Given the description of an element on the screen output the (x, y) to click on. 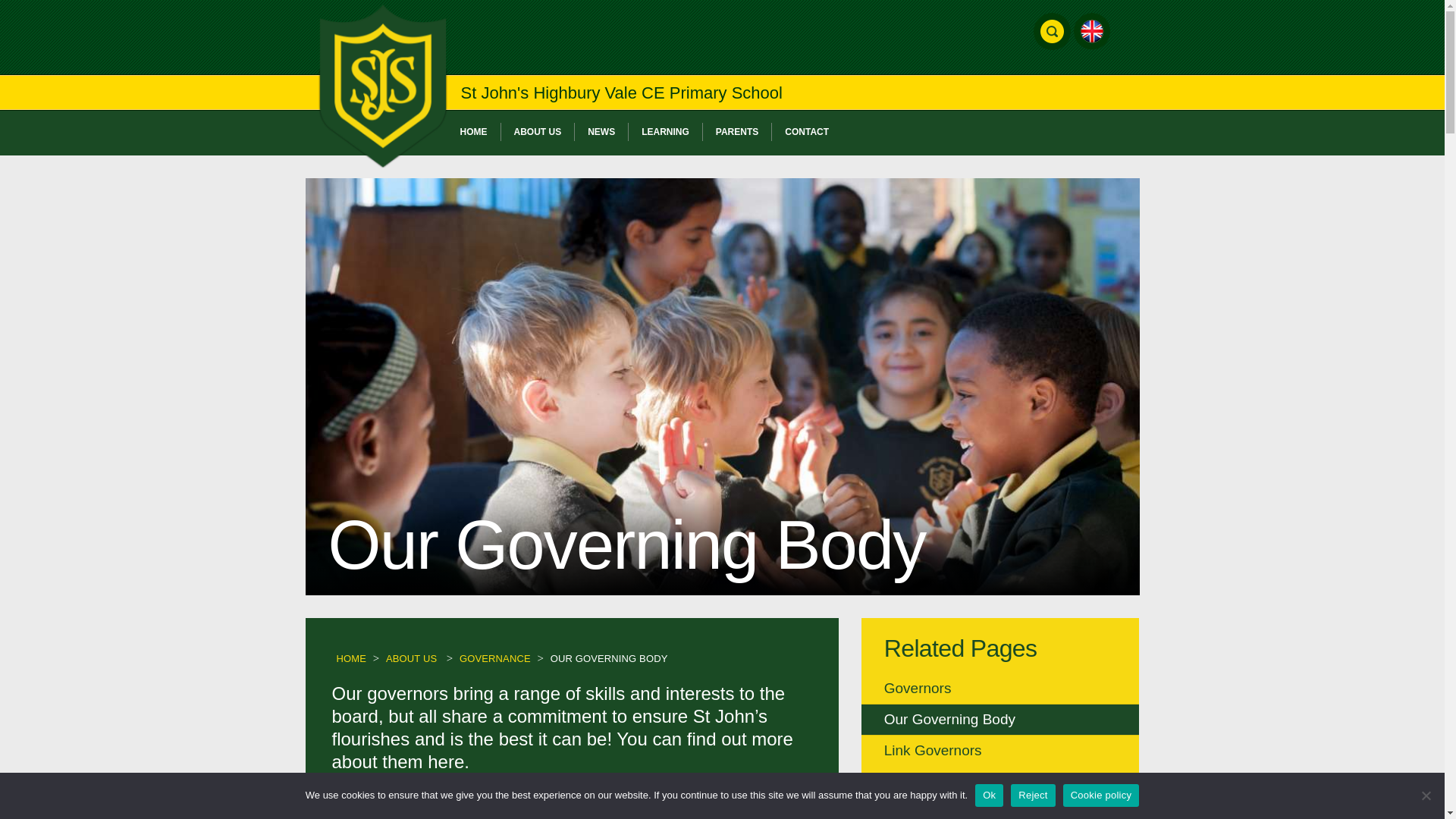
Search (679, 62)
ABOUT US (537, 131)
HOME (473, 131)
LEARNING (665, 131)
NEWS (601, 131)
